Given the description of an element on the screen output the (x, y) to click on. 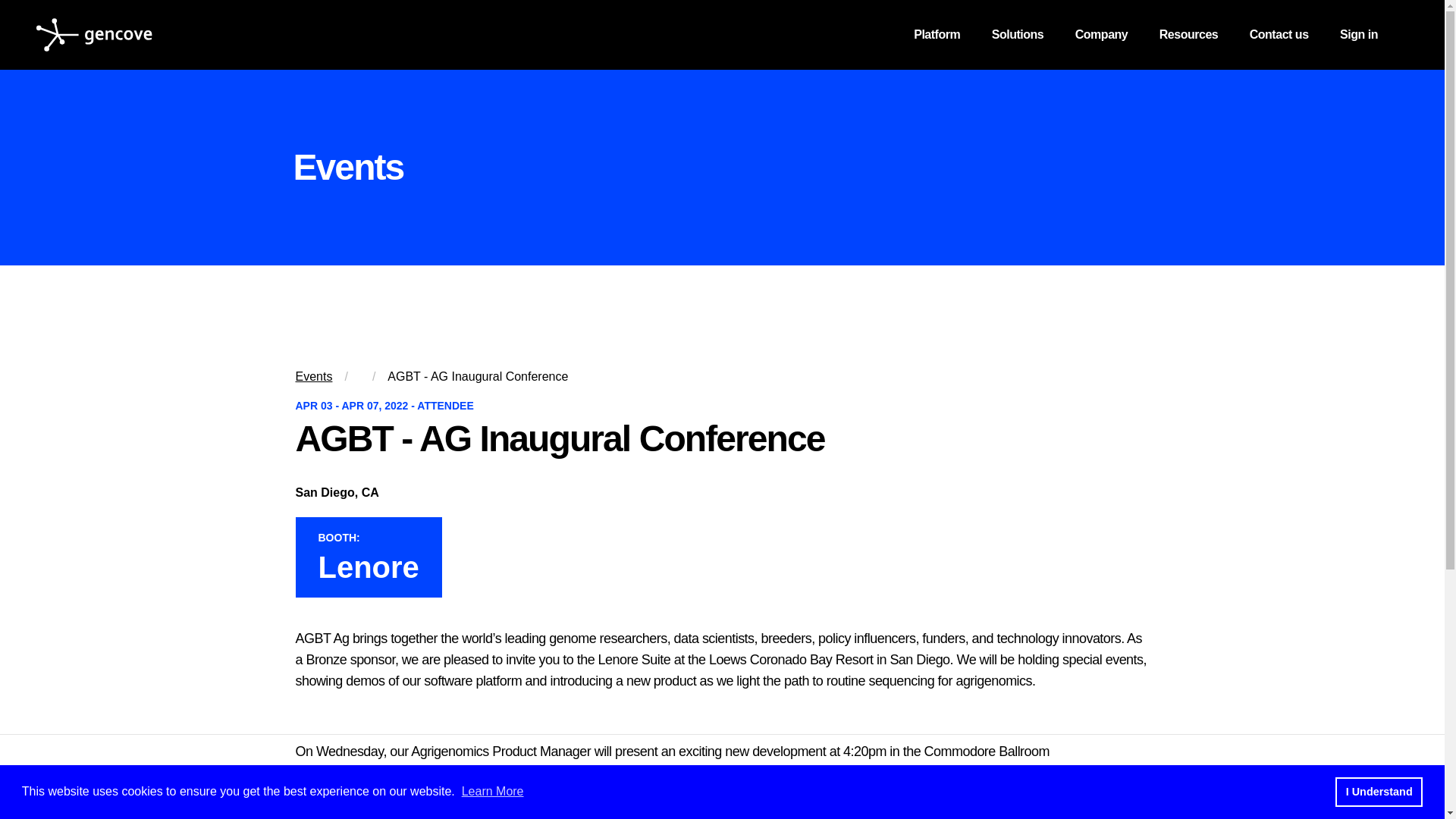
Sign in (1358, 34)
Gencove (94, 34)
Contact us (1278, 34)
Solutions (1017, 34)
Events (314, 376)
Learn More (492, 790)
Platform (936, 34)
I Understand (1378, 791)
Resources (1188, 34)
Company (1101, 34)
